Given the description of an element on the screen output the (x, y) to click on. 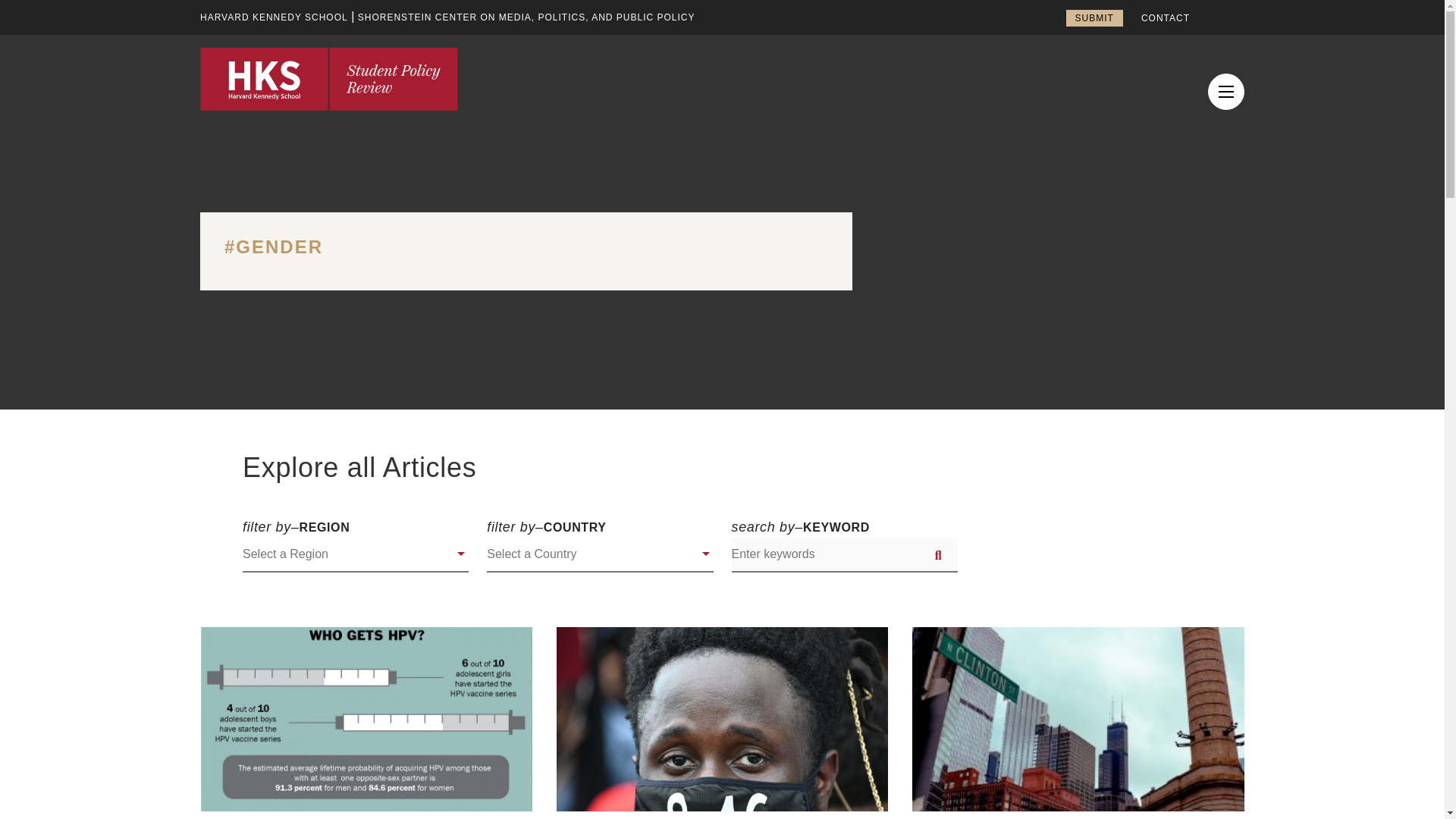
HKS Student Policy Review (329, 78)
SUBMIT (1093, 17)
Shorenstein Center on Media, Politics, and Public Policy (526, 17)
SHORENSTEIN CENTER ON MEDIA, POLITICS, AND PUBLIC POLICY (526, 17)
CONTACT (1165, 18)
HARVARD KENNEDY SCHOOL (273, 17)
Harvard Kennedy School (273, 17)
